Given the description of an element on the screen output the (x, y) to click on. 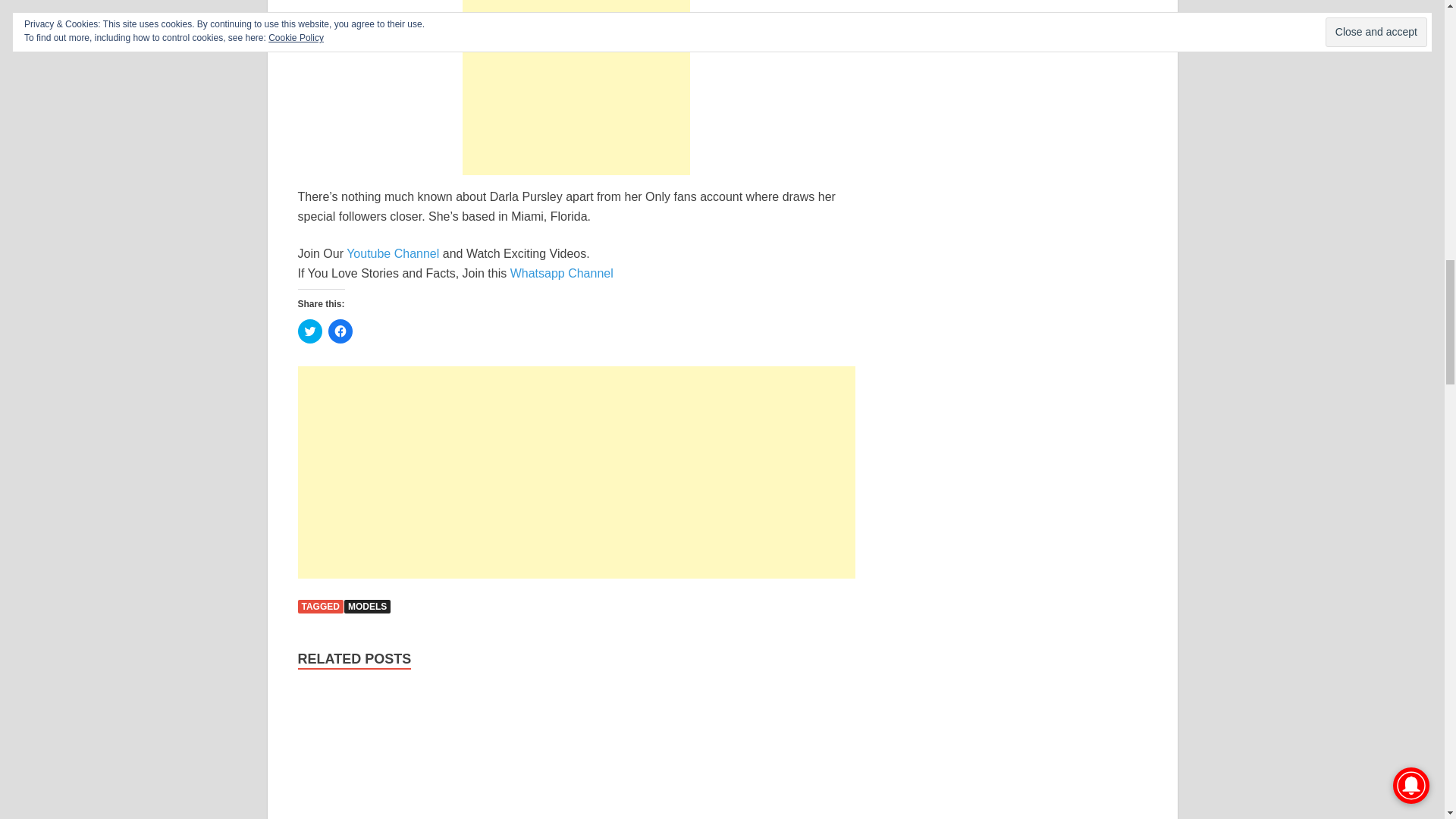
Click to share on Twitter (309, 331)
MODELS (366, 606)
Whatsapp Channel (561, 273)
Advertisement (575, 472)
Youtube Channel (392, 253)
Advertisement (576, 87)
Click to share on Facebook (339, 331)
